Given the description of an element on the screen output the (x, y) to click on. 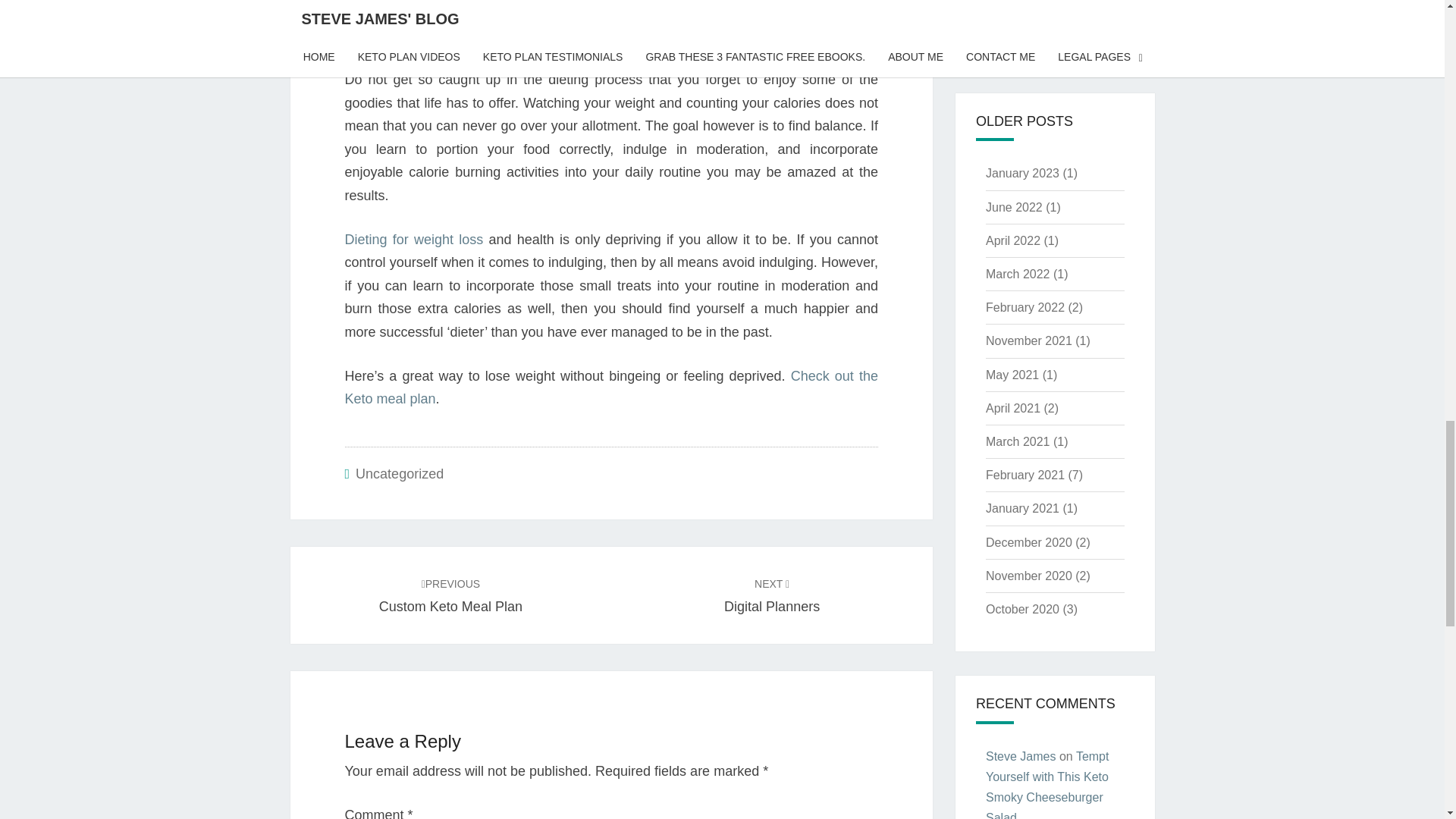
Dieting for weight loss (413, 239)
Check out the Keto meal plan (771, 594)
Uncategorized (610, 387)
